Given the description of an element on the screen output the (x, y) to click on. 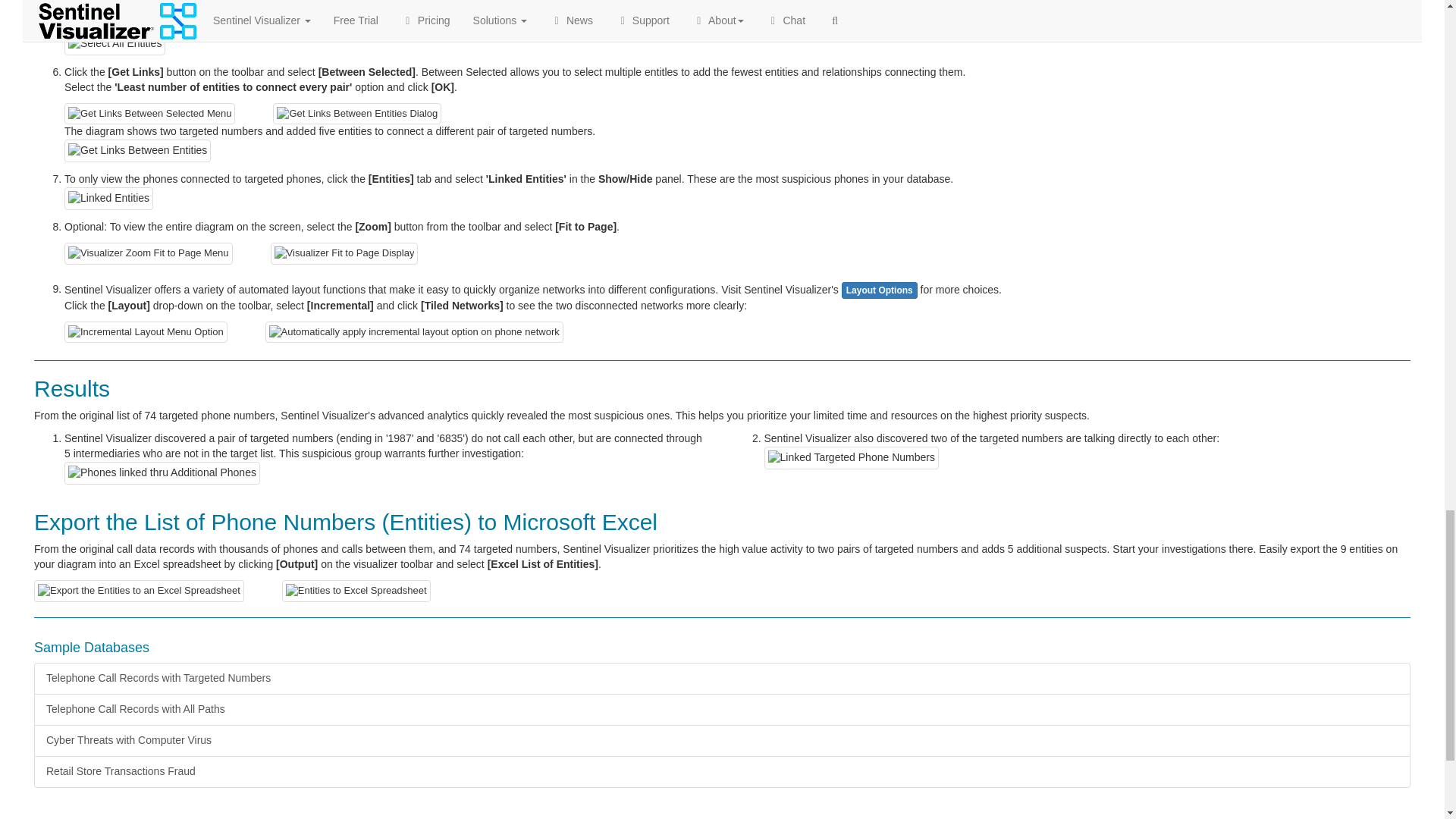
Entities to Excel Spreadsheet (356, 590)
Linked Entities (108, 198)
Incremental Layout Menu Option (145, 332)
Linked Targeted Phone Numbers (851, 457)
Visualizer Fit to Page Display (344, 253)
Phones linked thru Additional Phones (162, 472)
Visualizer Zoom Fit to Page Menu (148, 253)
Get Links Between Selected Menu (149, 114)
Get Links Between Entities (137, 150)
